Given the description of an element on the screen output the (x, y) to click on. 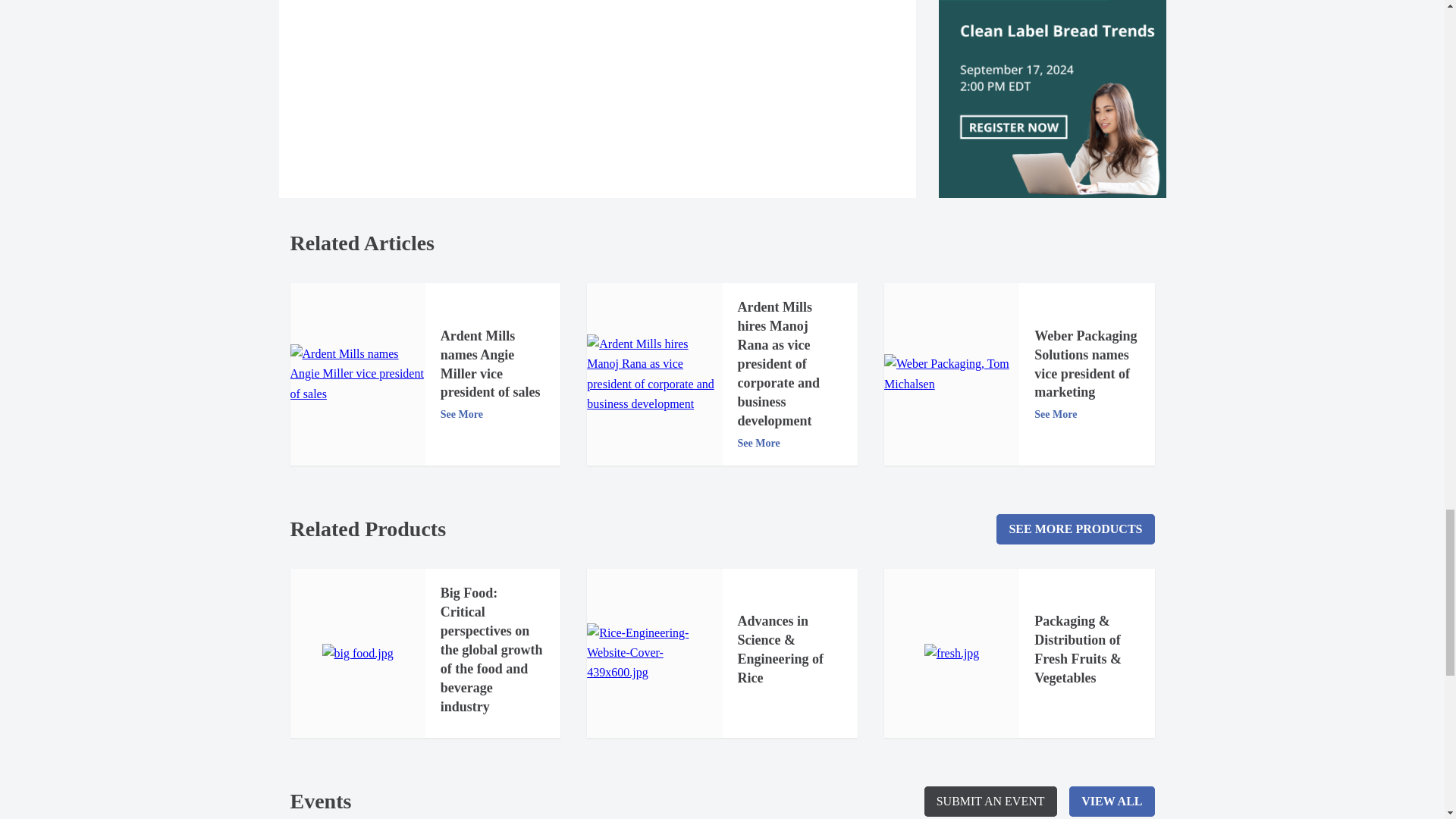
Rice-Engineering-Website-Cover-439x600.jpg (654, 653)
fresh.jpg (951, 653)
big food.jpg (357, 653)
Ardent Mills names Angie Miller vice president of sales (357, 373)
Weber Packaging, Tom Michalsen (951, 373)
